Given the description of an element on the screen output the (x, y) to click on. 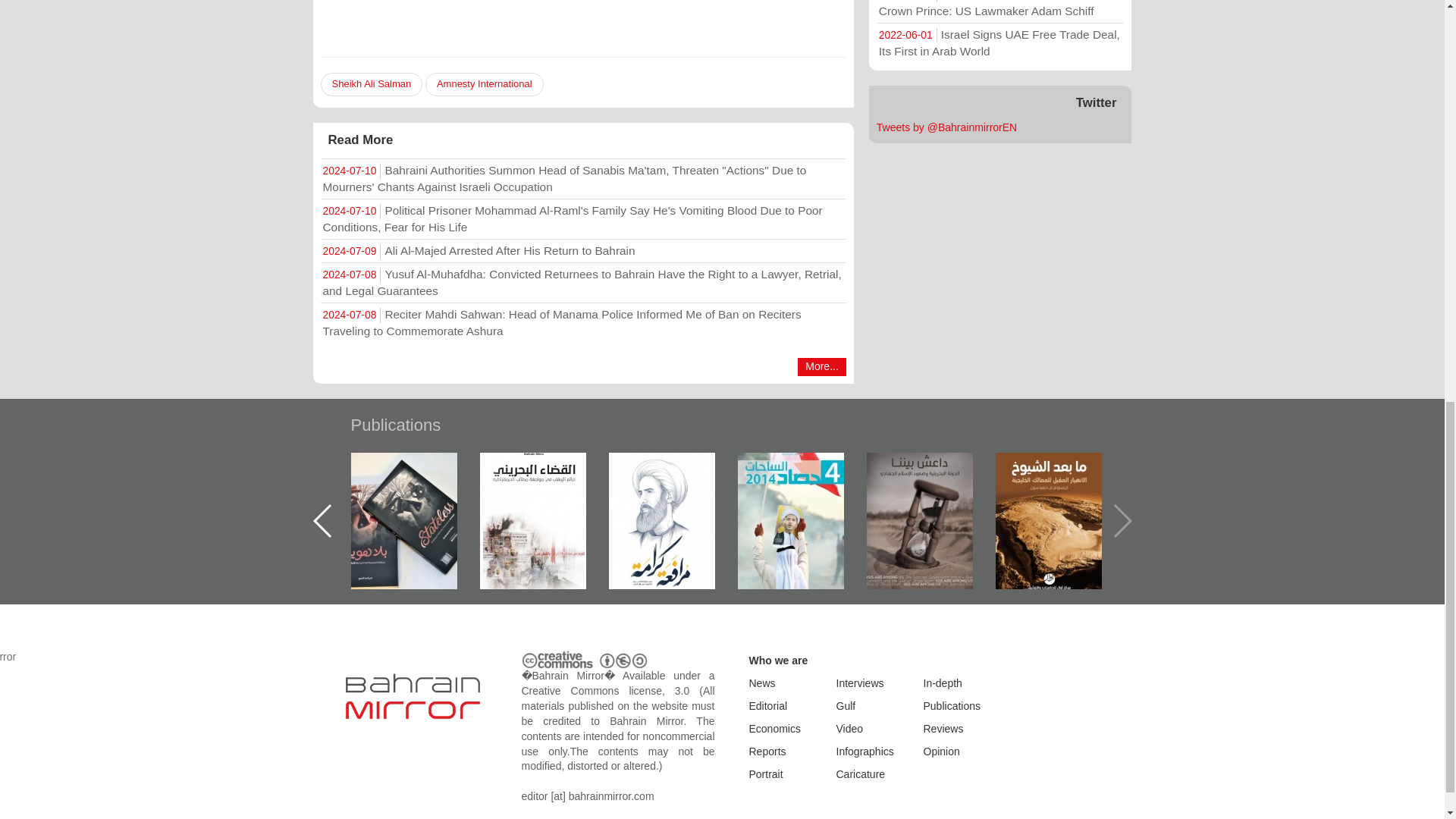
Sheikh Ali Salman (371, 84)
Arabic Version (352, 1)
Amnesty International (484, 84)
